Given the description of an element on the screen output the (x, y) to click on. 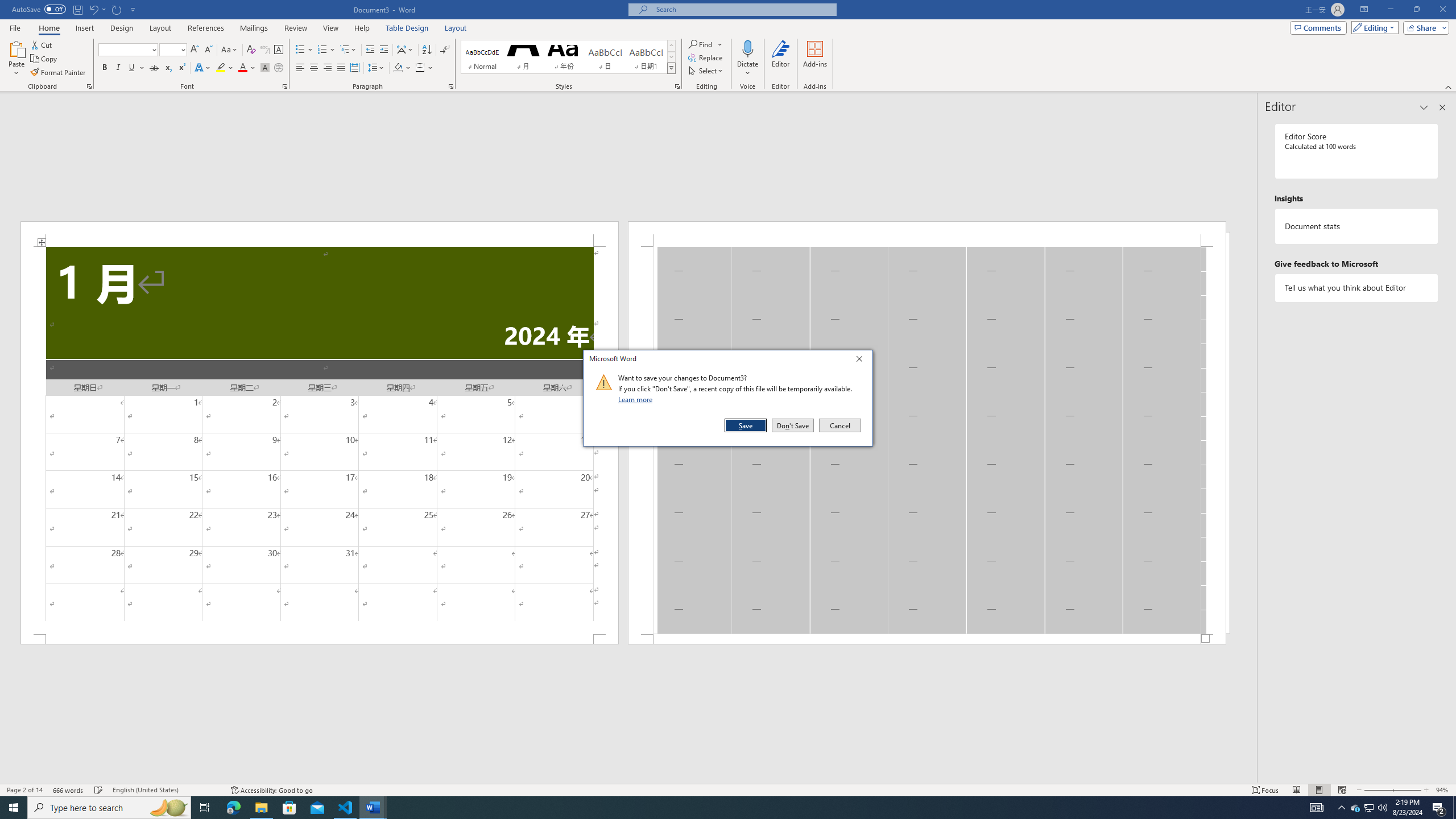
Document statistics (1356, 226)
Don't Save (792, 425)
